Given the description of an element on the screen output the (x, y) to click on. 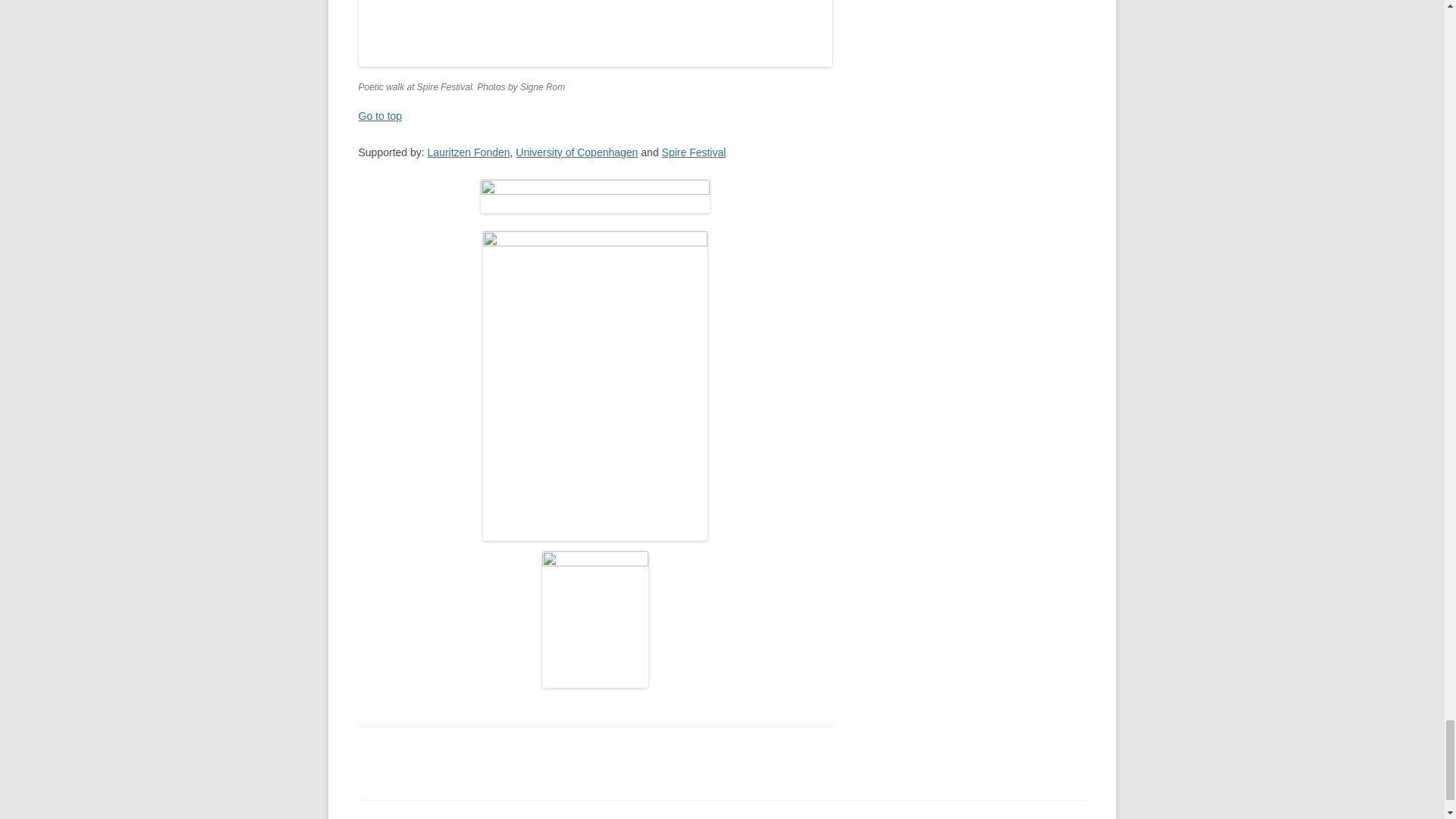
Spire Festival (694, 152)
University of Copenhagen (576, 152)
Go to top (379, 115)
Lauritzen Fonden (469, 152)
